Given the description of an element on the screen output the (x, y) to click on. 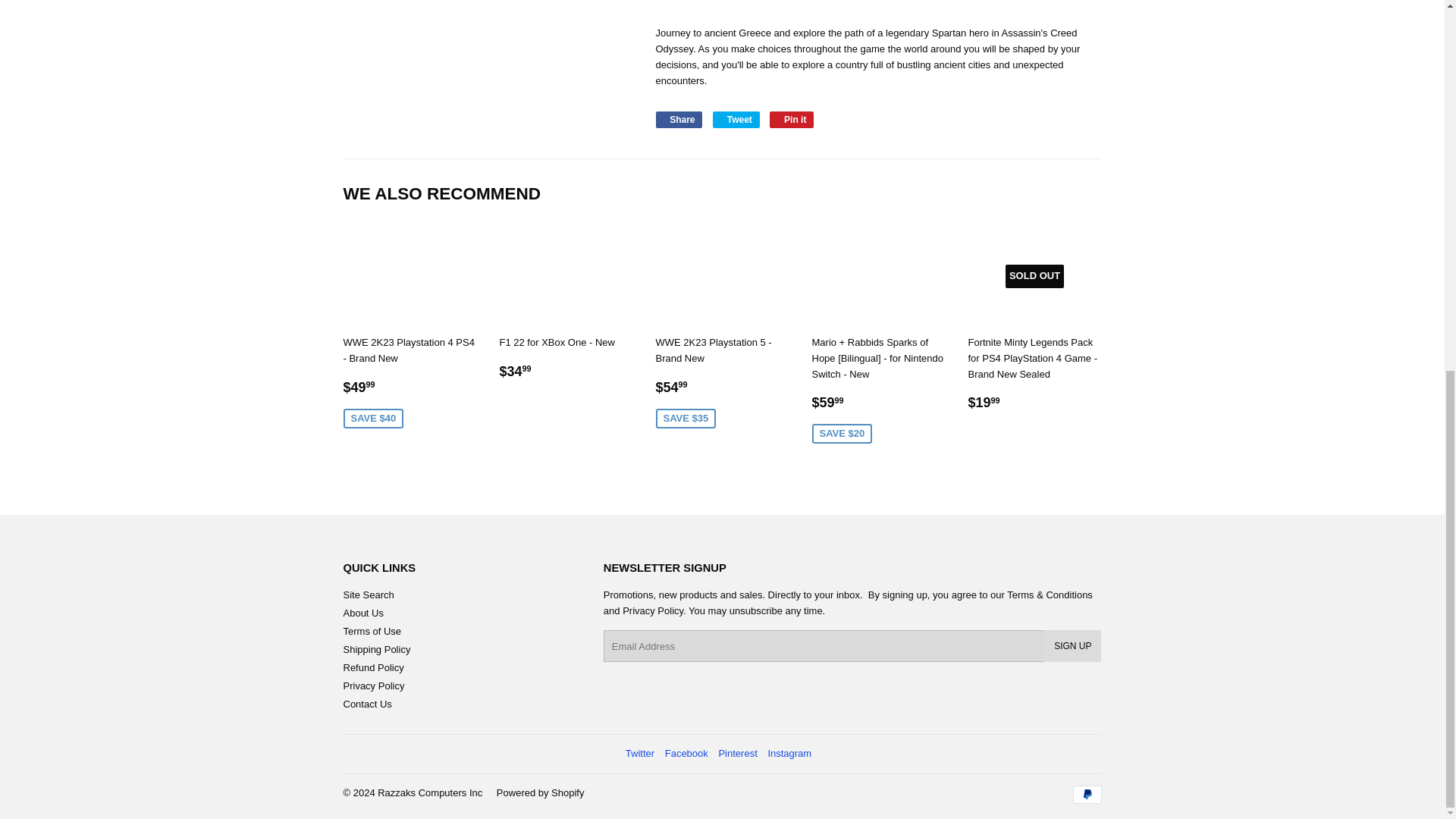
Pin on Pinterest (791, 119)
Tweet on Twitter (736, 119)
PayPal (1085, 794)
Razzaks Computers Inc on Instagram (788, 753)
Share on Facebook (678, 119)
Razzaks Computers Inc on Facebook (686, 753)
Razzaks Computers Inc on Twitter (639, 753)
Razzaks Computers Inc on Pinterest (737, 753)
